Given the description of an element on the screen output the (x, y) to click on. 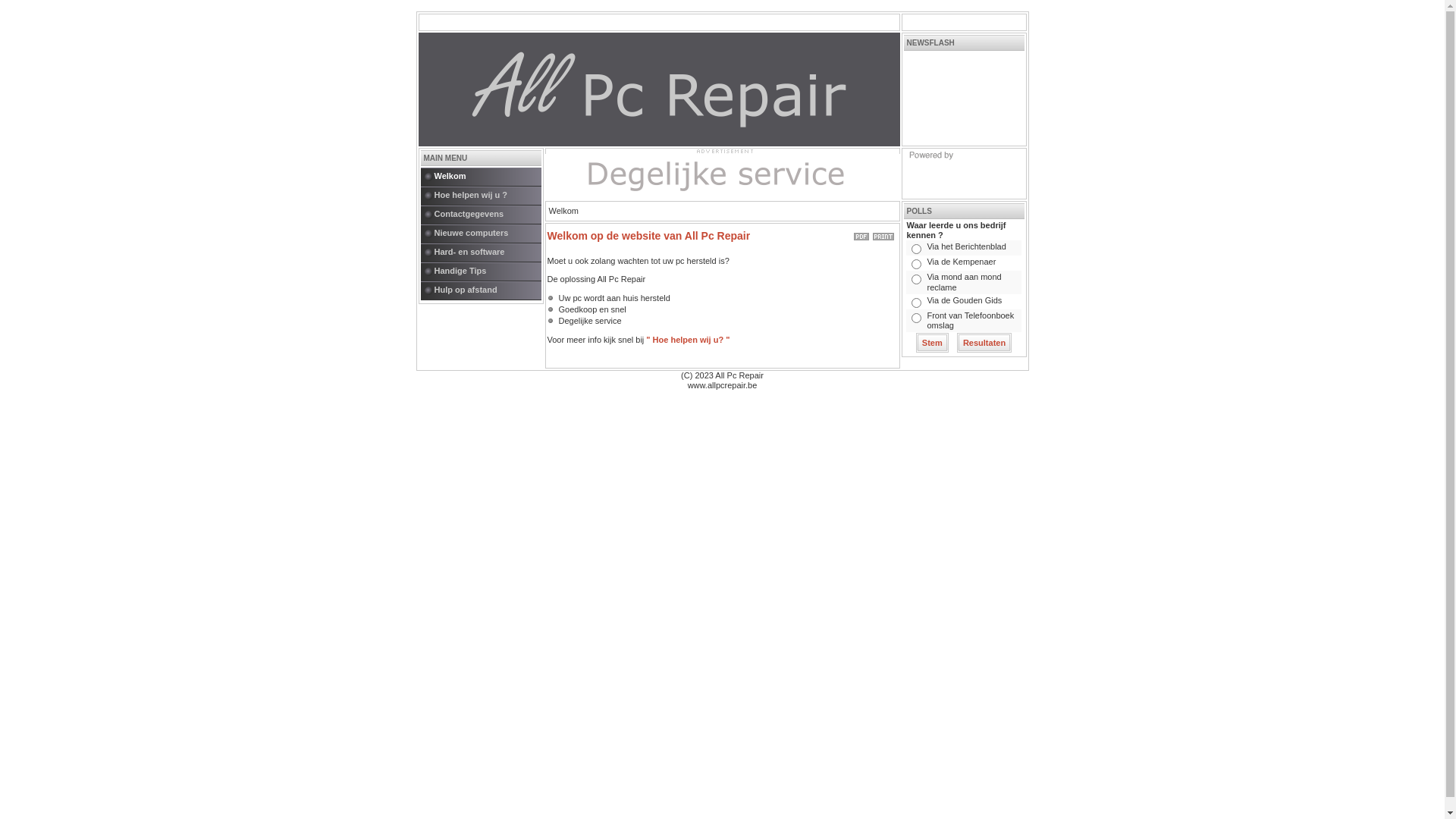
Nieuwe computers Element type: text (487, 233)
Hoe helpen wij u ? Element type: text (487, 195)
Hulp op afstand Element type: text (487, 290)
" Hoe helpen wij u? " Element type: text (687, 339)
Contactgegevens Element type: text (487, 214)
powered_by Element type: hover (963, 173)
Hard- en software Element type: text (487, 252)
Welkom Element type: text (487, 176)
Stem Element type: text (932, 342)
Resultaten Element type: text (984, 342)
Handige Tips Element type: text (487, 271)
advertisement Element type: hover (721, 150)
Afdrukken Element type: hover (882, 233)
PDF Element type: hover (861, 233)
